Given the description of an element on the screen output the (x, y) to click on. 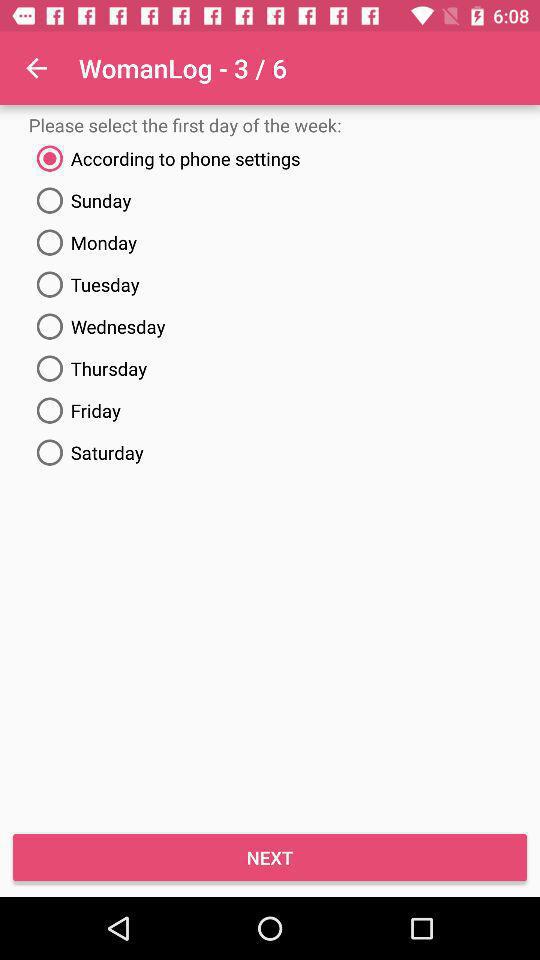
turn off item above please select the icon (36, 68)
